Given the description of an element on the screen output the (x, y) to click on. 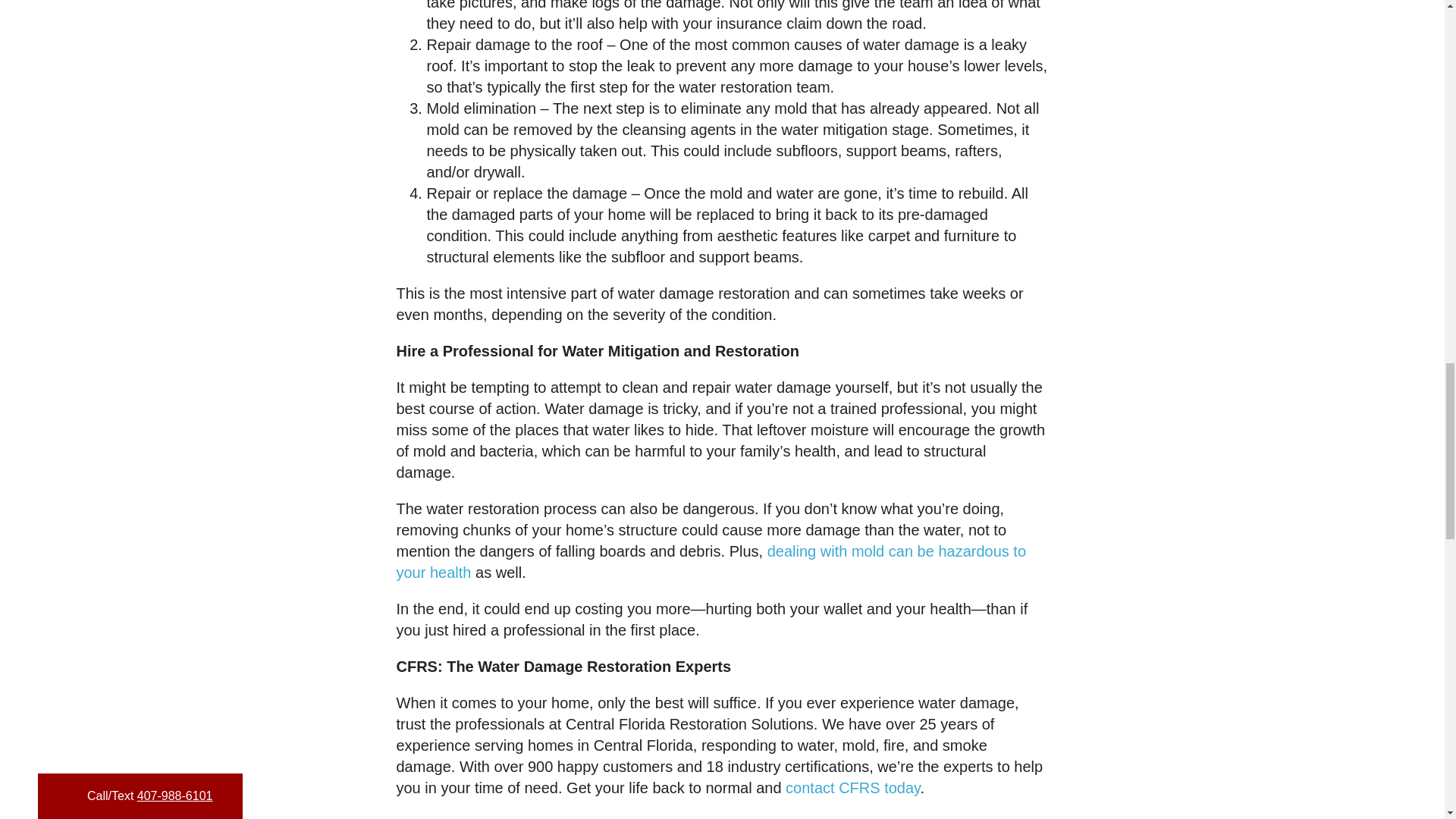
dealing with mold can be hazardous to your health (711, 561)
contact CFRS today (853, 787)
